Given the description of an element on the screen output the (x, y) to click on. 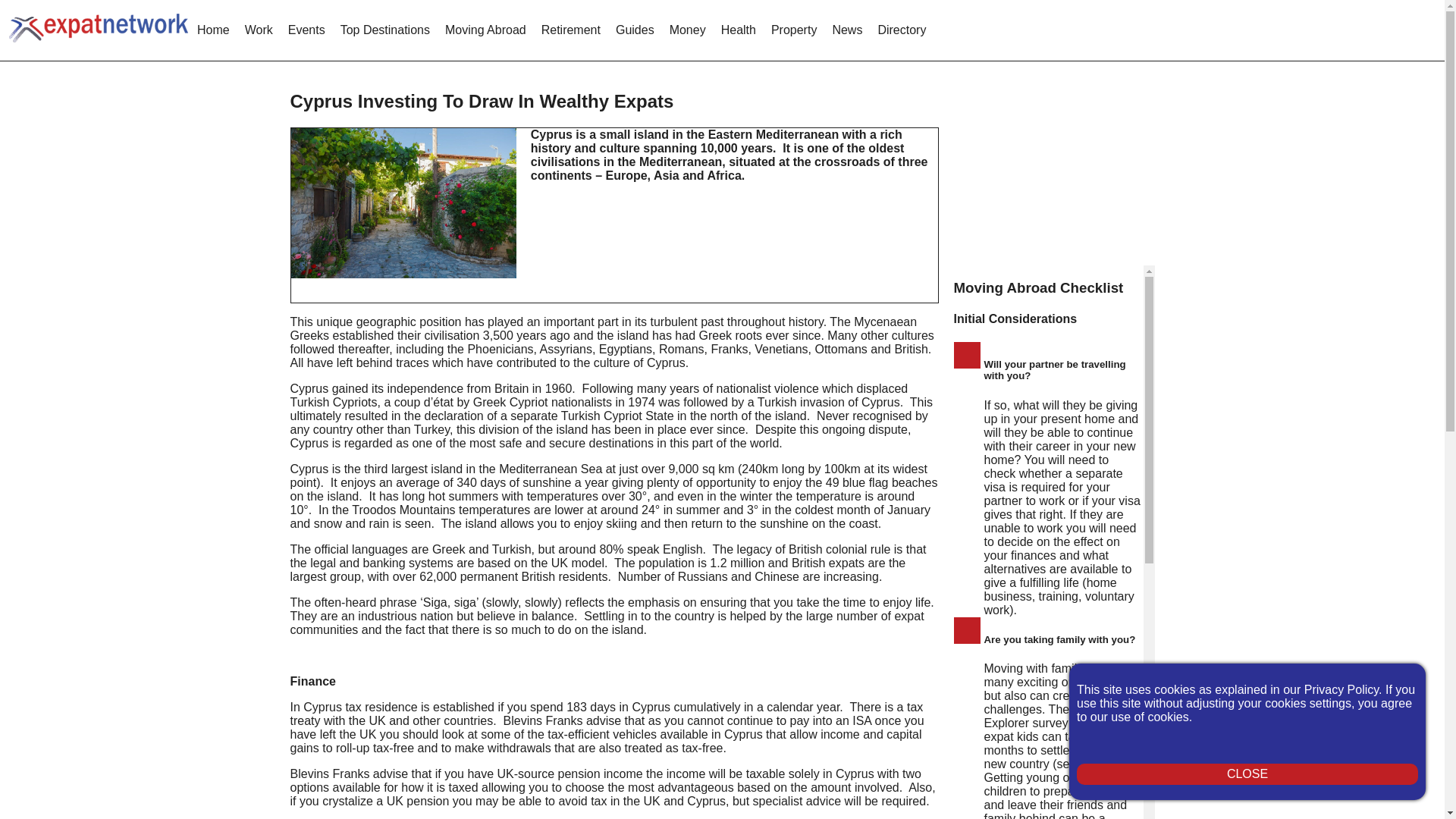
Events (306, 29)
Home (213, 29)
3rd party ad content (1066, 170)
Top Destinations (384, 29)
Moving Abroad (485, 29)
Work (258, 29)
